Given the description of an element on the screen output the (x, y) to click on. 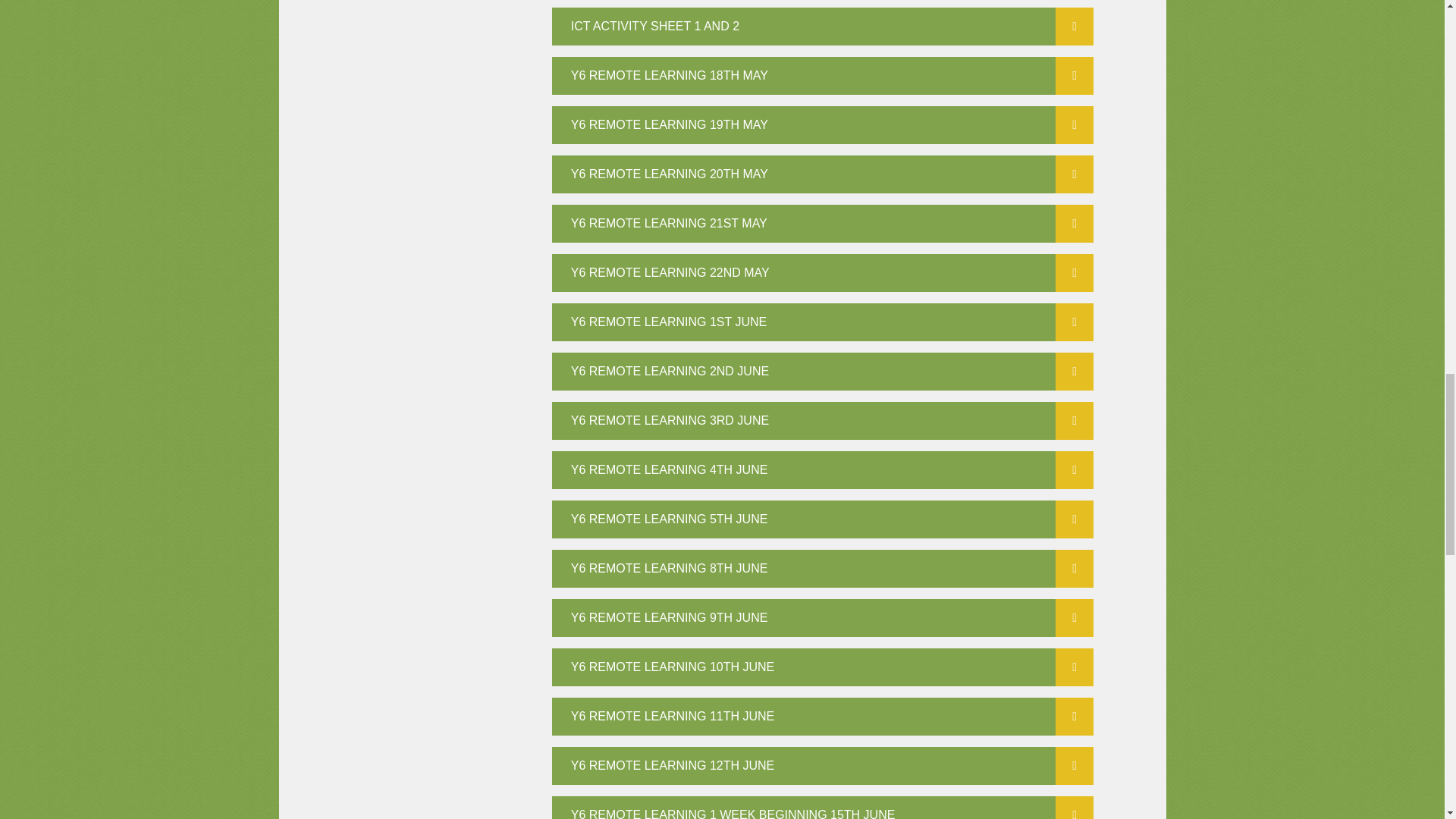
ICT ACTIVITY SHEET 1 AND 2 (822, 26)
Y6 REMOTE LEARNING 19TH MAY (822, 125)
Y6 REMOTE LEARNING 18TH MAY (822, 75)
Y6 REMOTE LEARNING 20TH MAY (822, 174)
Y6 REMOTE LEARNING 21ST MAY (822, 223)
